Given the description of an element on the screen output the (x, y) to click on. 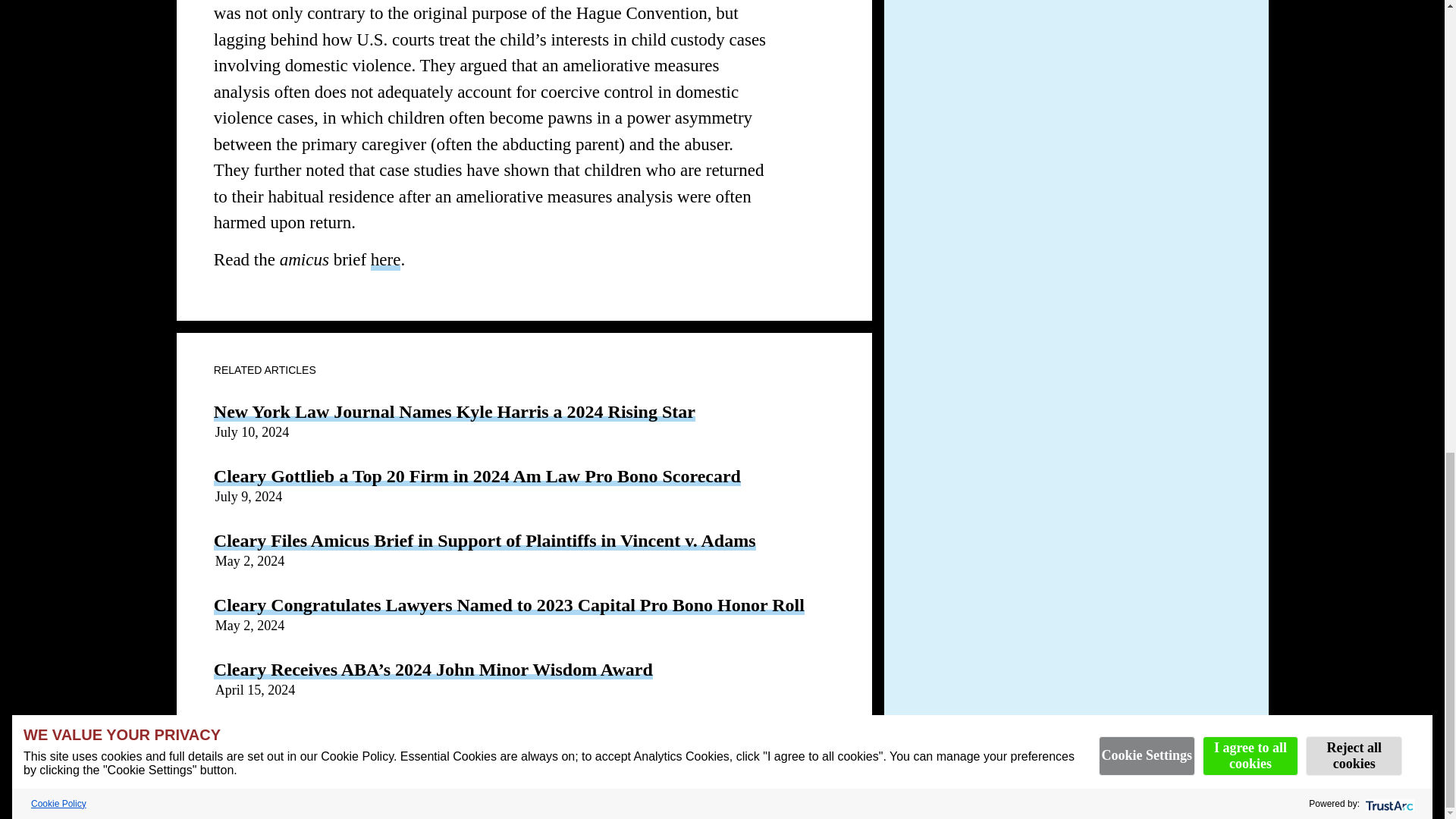
Legal Notices (563, 752)
Privacy (483, 752)
Site Map (724, 752)
Contact Us (652, 752)
Alumni Login (269, 752)
